Given the description of an element on the screen output the (x, y) to click on. 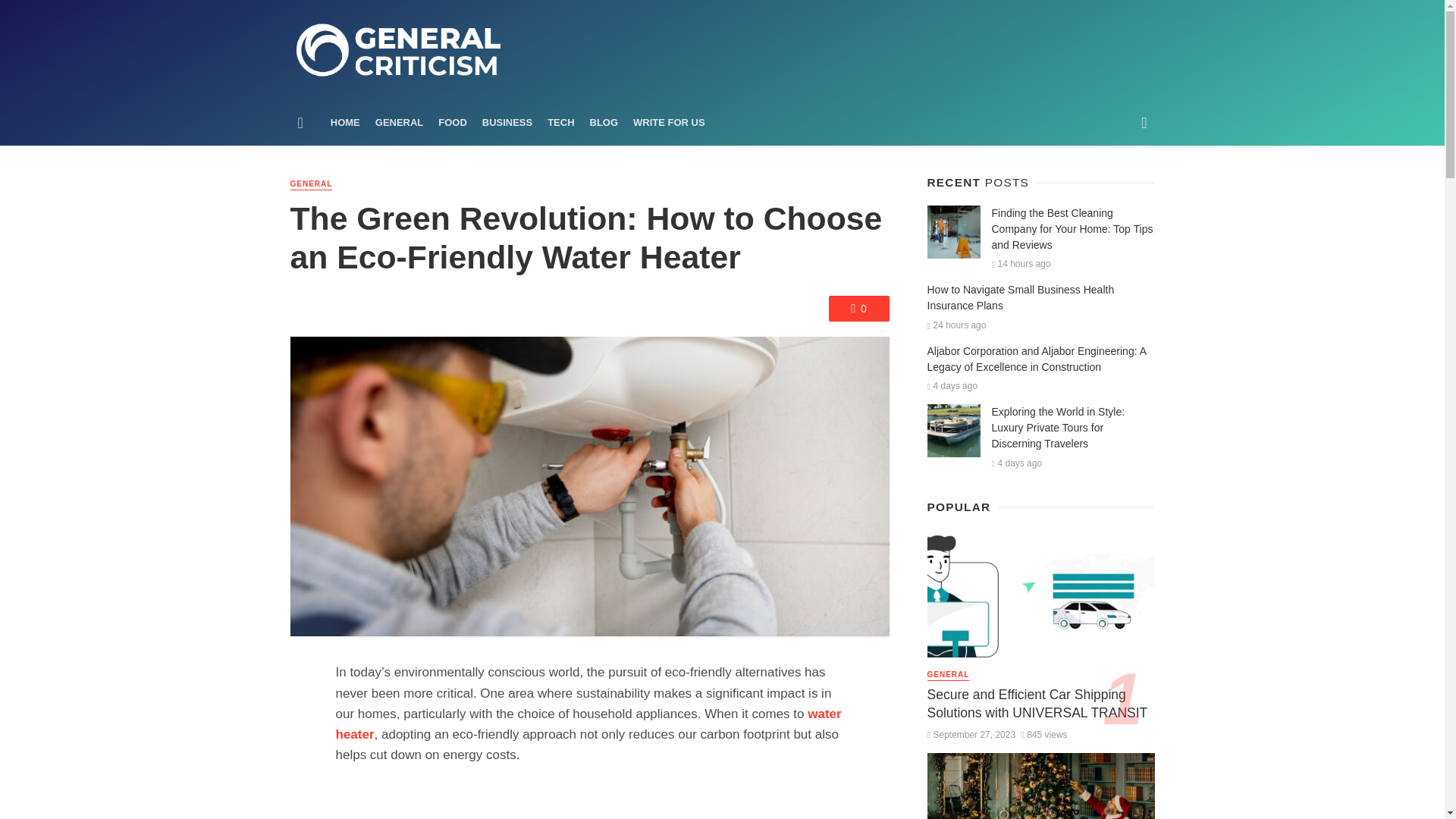
GENERAL (399, 122)
BLOG (604, 122)
BUSINESS (507, 122)
HOME (345, 122)
TECH (560, 122)
water heater (587, 724)
WRITE FOR US (669, 122)
FOOD (452, 122)
0 (858, 308)
GENERAL (310, 184)
